Given the description of an element on the screen output the (x, y) to click on. 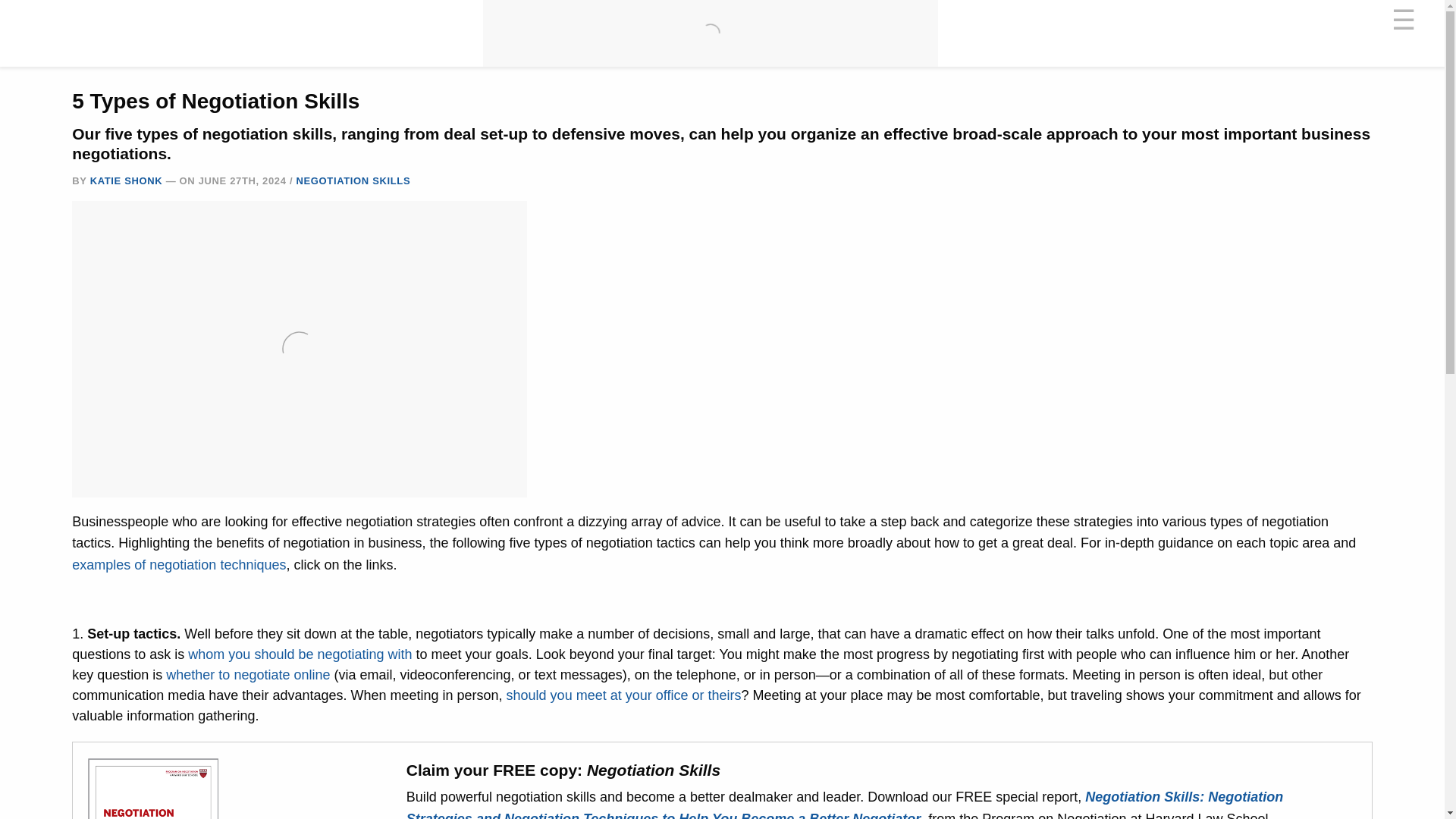
whom you should be negotiating with (299, 654)
whether to negotiate online (247, 674)
should you meet at your office or theirs (623, 694)
NEGOTIATION SKILLS (352, 180)
View all posts by Katie Shonk (126, 180)
examples of negotiation techniques (178, 564)
Claim your FREE copy: Negotiation Skills (563, 769)
KATIE SHONK (126, 180)
